Given the description of an element on the screen output the (x, y) to click on. 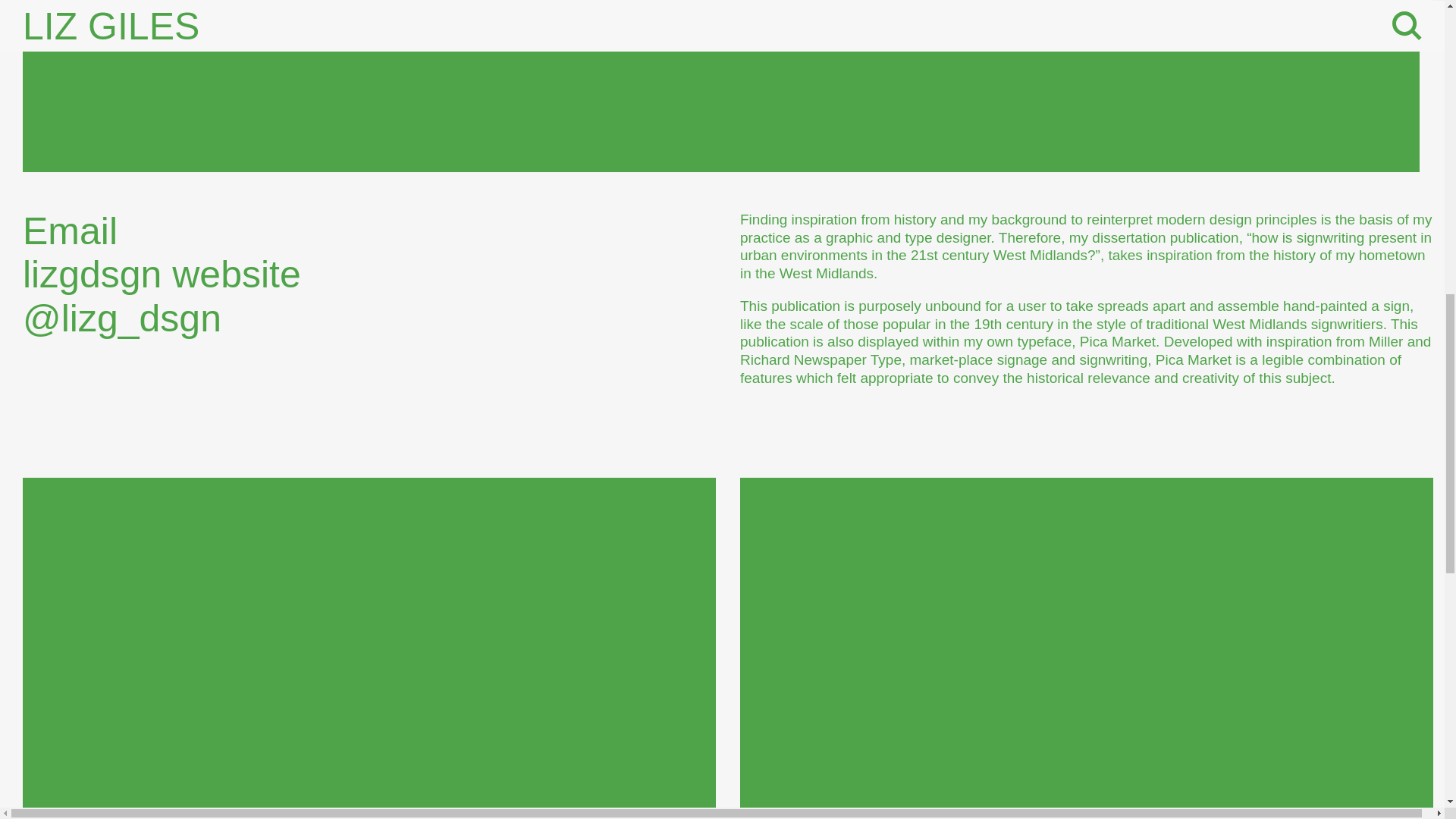
Email (85, 230)
lizgdsgn website (177, 274)
